Given the description of an element on the screen output the (x, y) to click on. 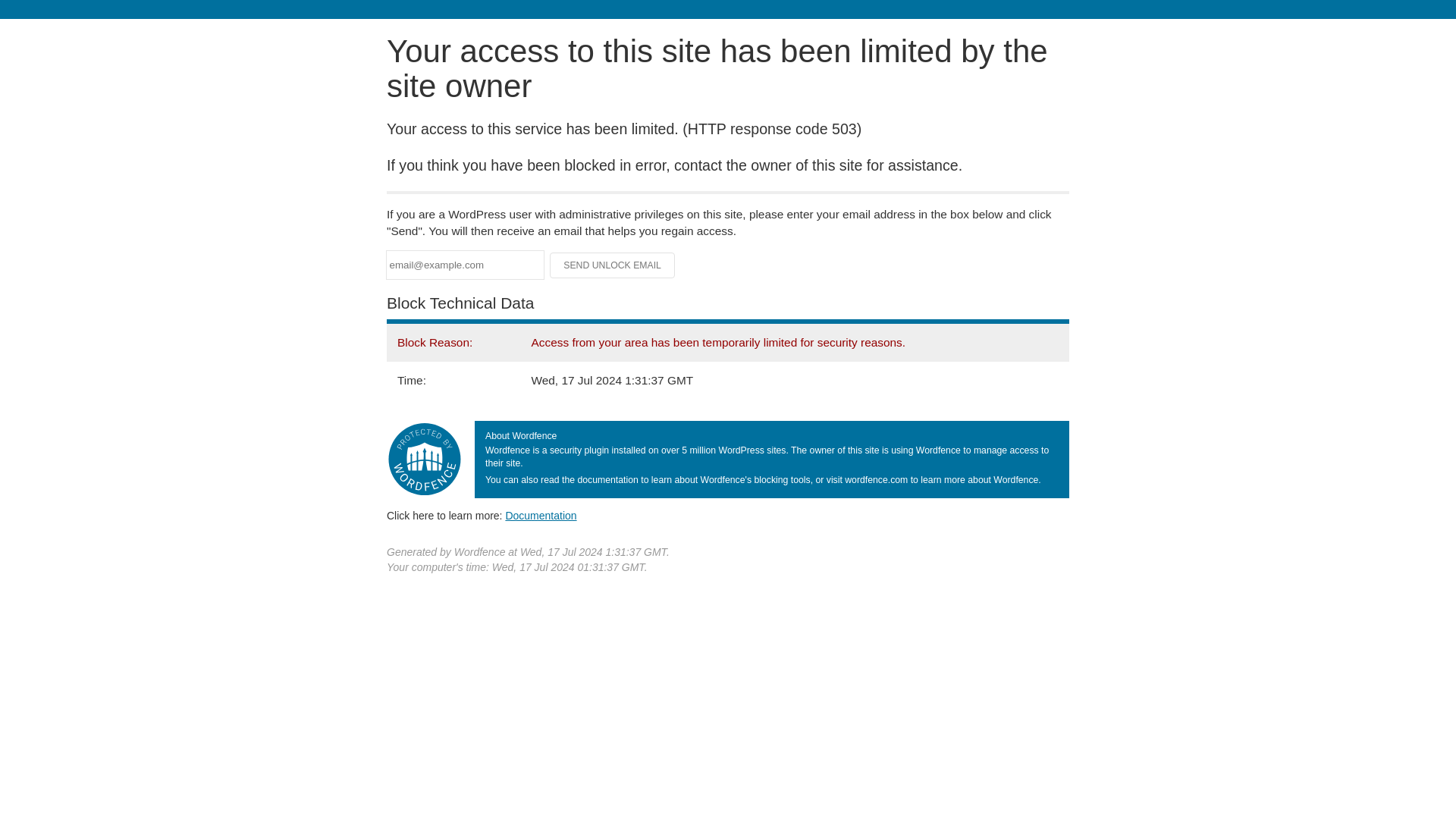
Documentation (540, 515)
Send Unlock Email (612, 265)
Send Unlock Email (612, 265)
